Given the description of an element on the screen output the (x, y) to click on. 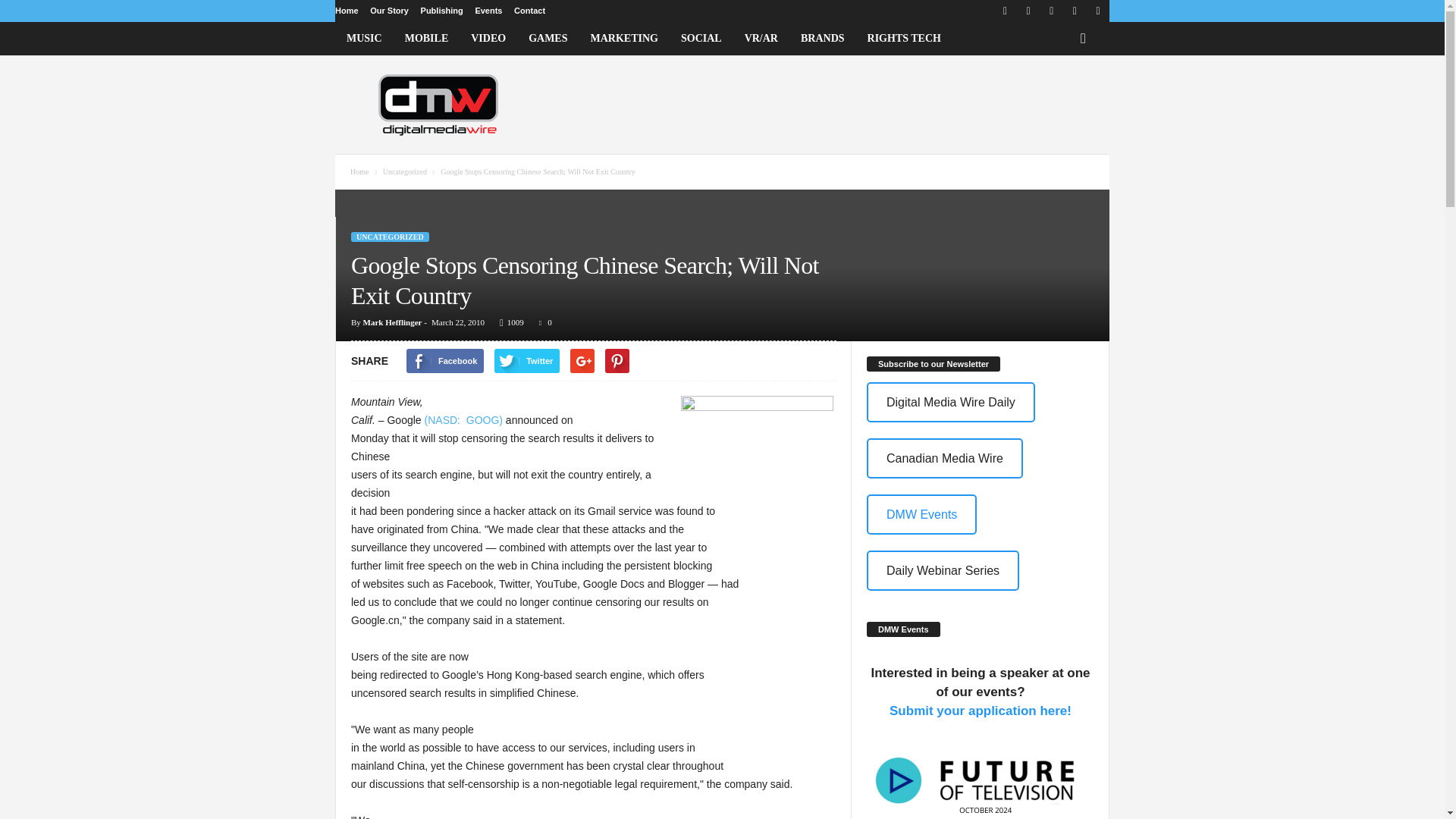
BRANDS (822, 38)
Digital Media Wire (437, 104)
VIDEO (488, 38)
MUSIC (363, 38)
Our Story (389, 10)
Home (346, 10)
SOCIAL (701, 38)
Publishing (441, 10)
RIGHTS TECH (904, 38)
MARKETING (624, 38)
View all posts in Uncategorized (405, 171)
Events (488, 10)
Contact (528, 10)
GAMES (547, 38)
MOBILE (426, 38)
